Given the description of an element on the screen output the (x, y) to click on. 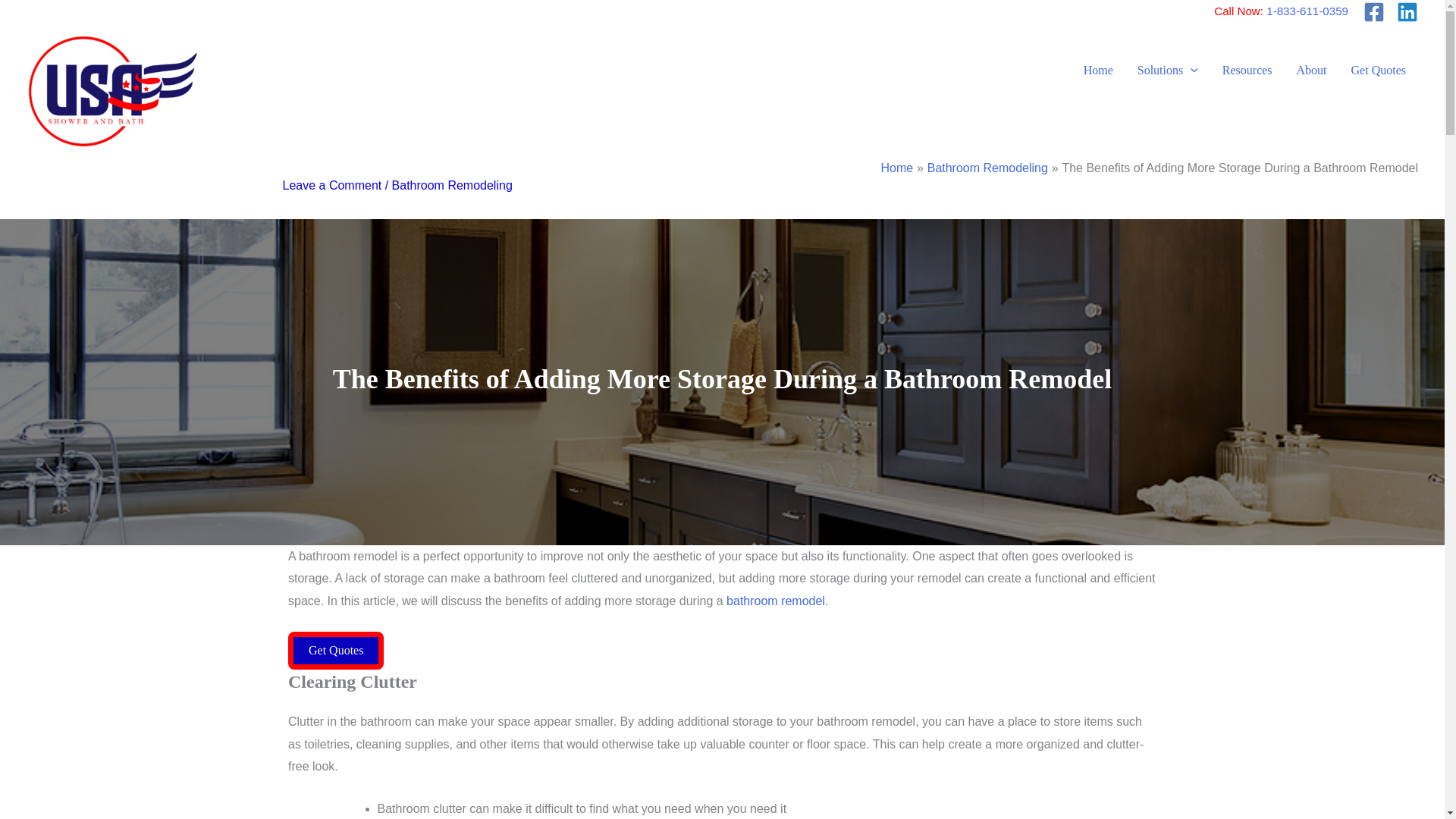
Bathroom Remodeling (987, 167)
1-833-611-0359 (1307, 10)
Get Quotes (1378, 69)
Solutions (1167, 69)
About (1311, 69)
Resources (1246, 69)
Home (1098, 69)
Home (897, 167)
